Given the description of an element on the screen output the (x, y) to click on. 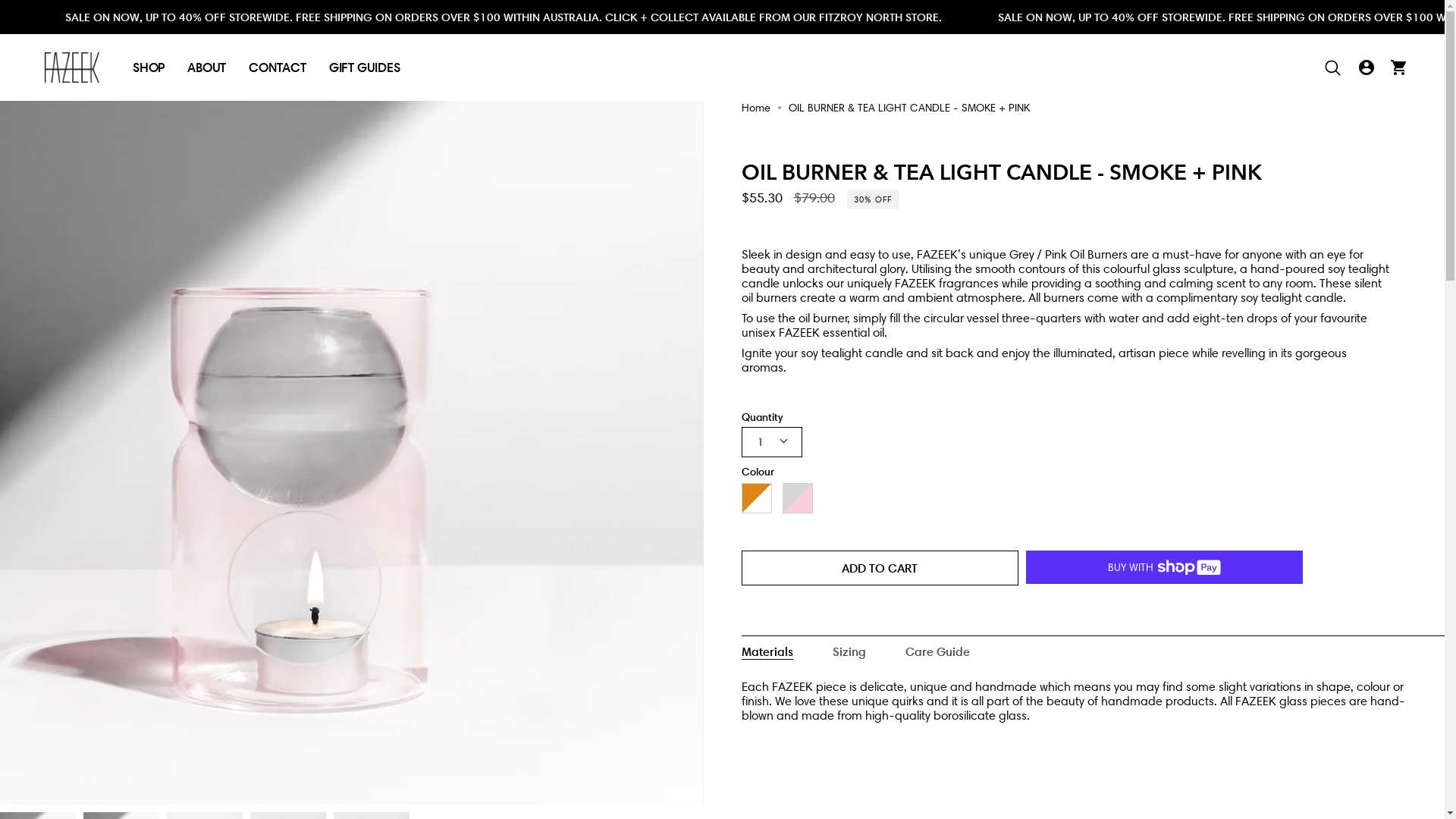
1 Element type: text (771, 441)
SHOP Element type: text (148, 67)
CONTACT Element type: text (277, 67)
Home Element type: text (755, 107)
ADD TO CART Element type: text (879, 567)
ABOUT Element type: text (206, 67)
Search Element type: text (1332, 67)
Cart Element type: text (1398, 67)
Account Element type: text (1366, 67)
GIFT GUIDES Element type: text (364, 67)
